Given the description of an element on the screen output the (x, y) to click on. 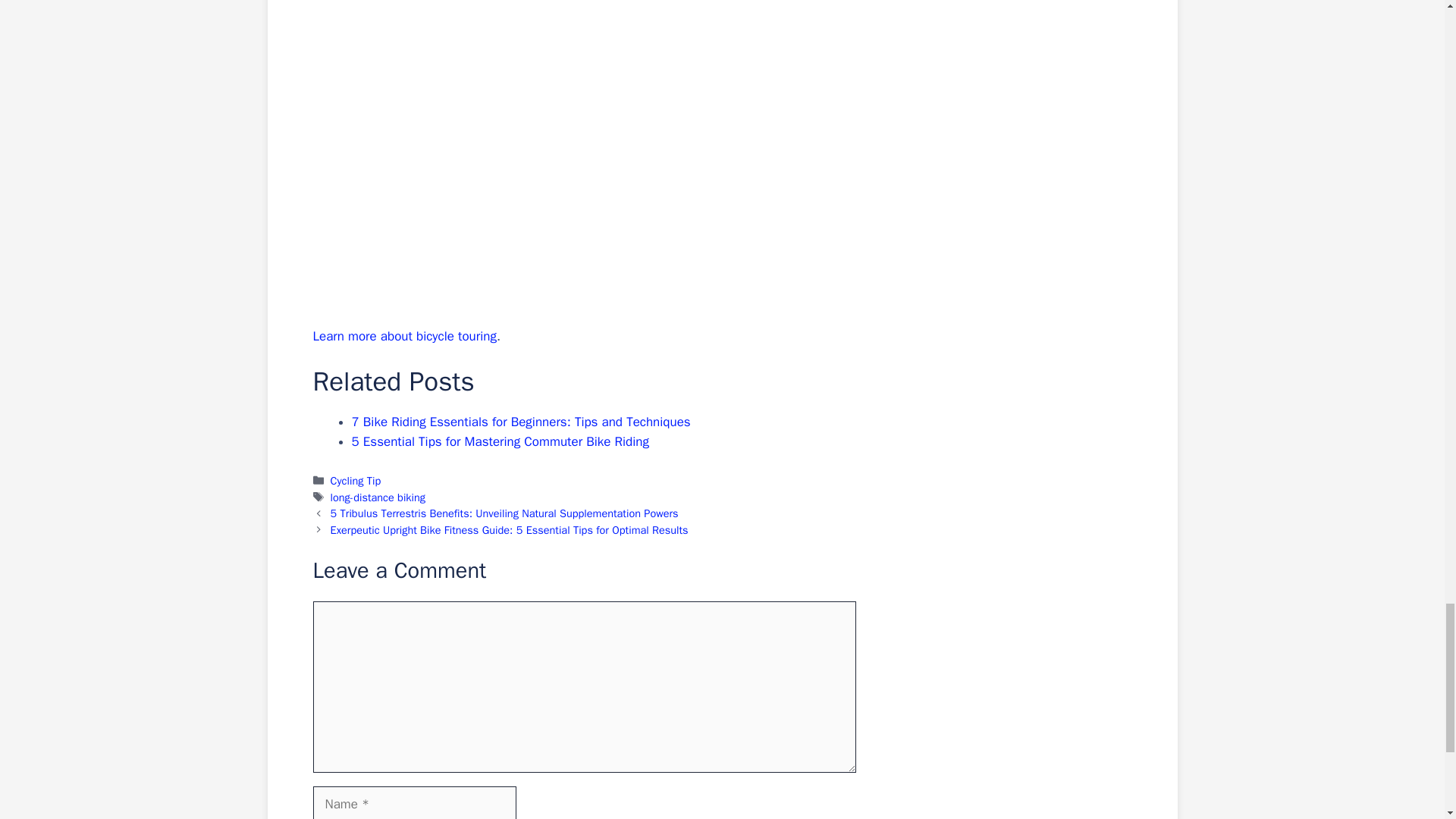
Learn more about bicycle touring (404, 335)
long-distance biking (377, 497)
5 Essential Tips for Mastering Commuter Bike Riding (500, 441)
Cycling Tip (355, 480)
7 Bike Riding Essentials for Beginners: Tips and Techniques (521, 421)
